Given the description of an element on the screen output the (x, y) to click on. 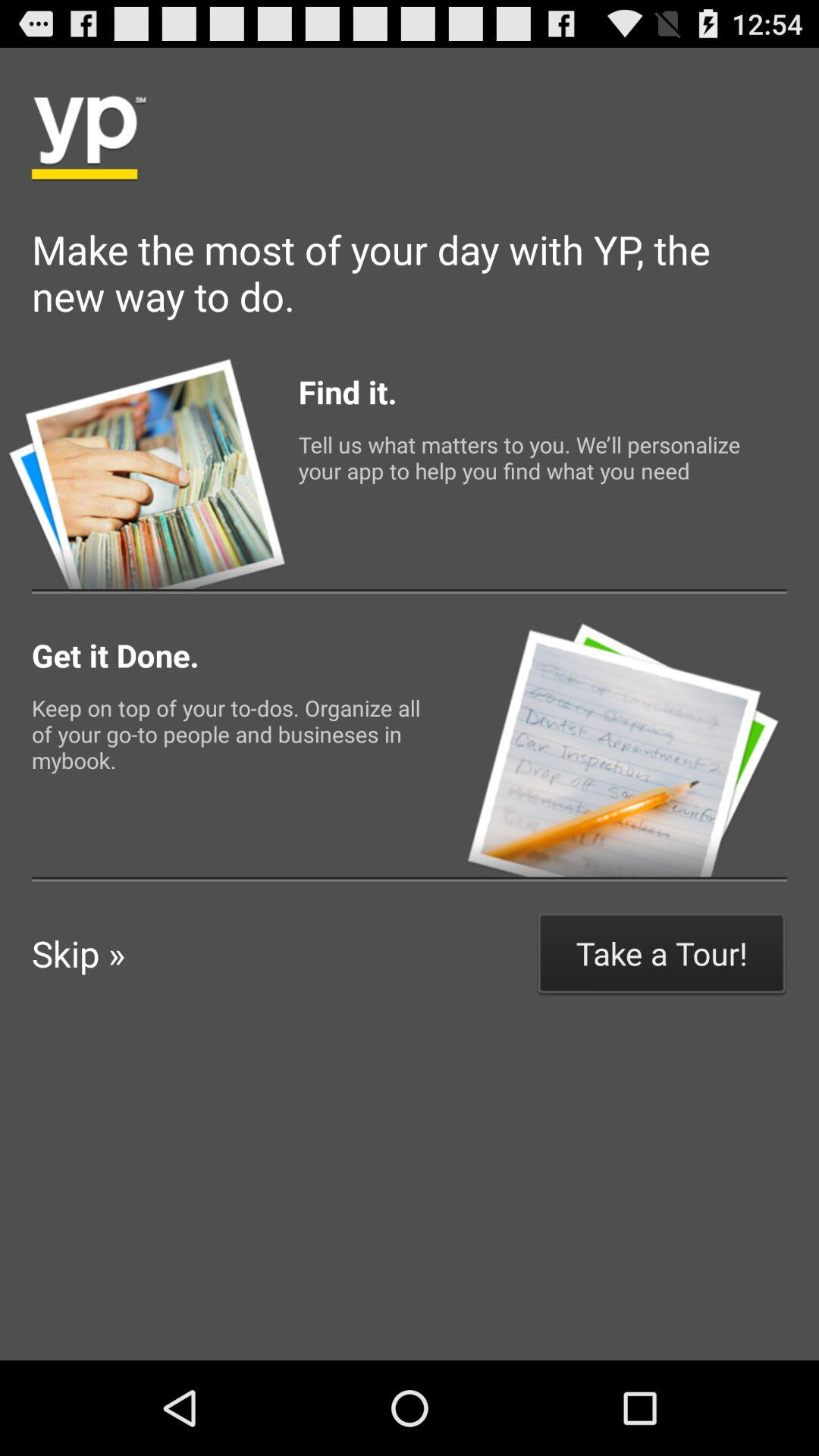
choose icon next to take a tour! button (78, 953)
